Given the description of an element on the screen output the (x, y) to click on. 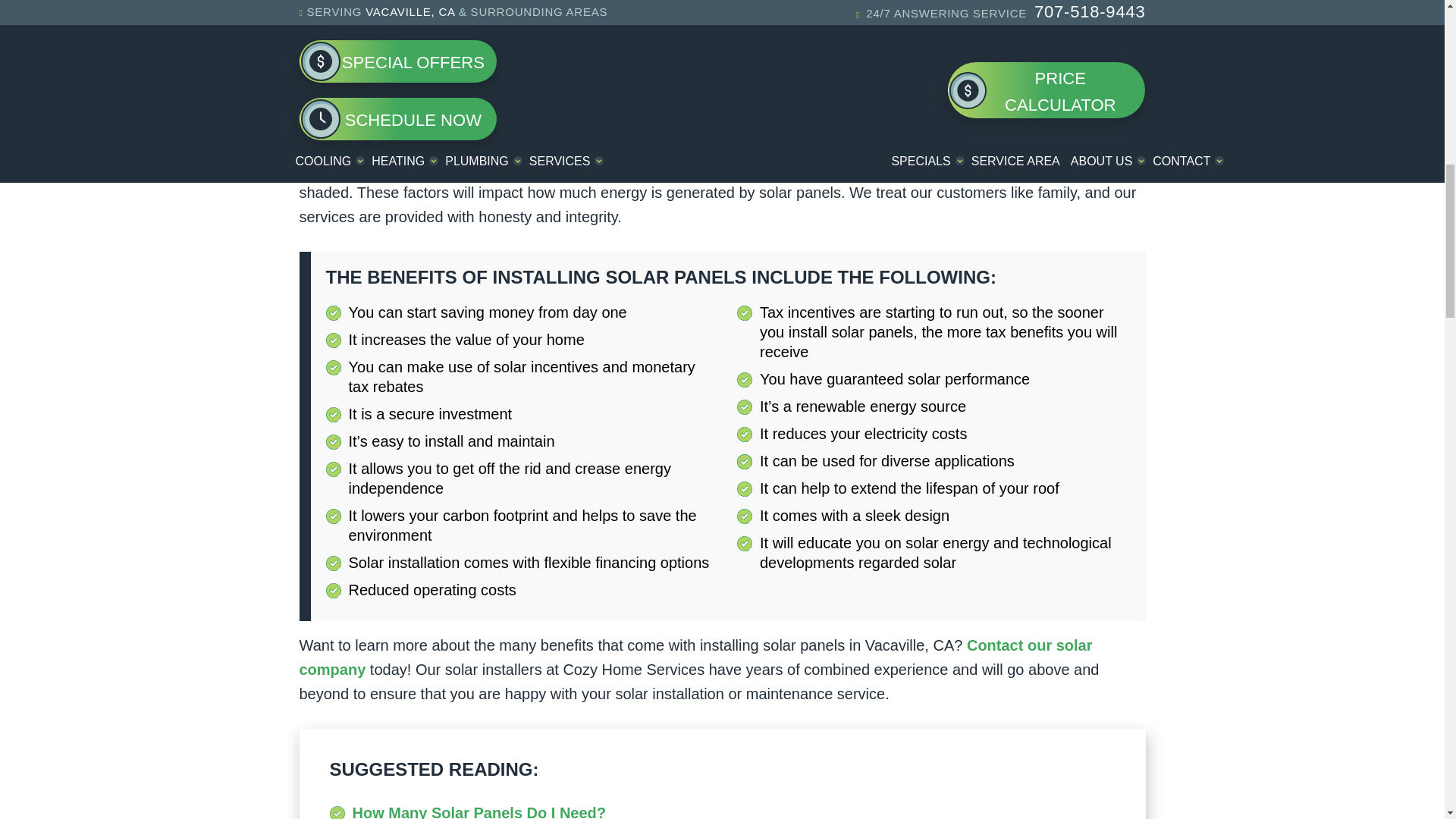
Submit (1026, 56)
